Given the description of an element on the screen output the (x, y) to click on. 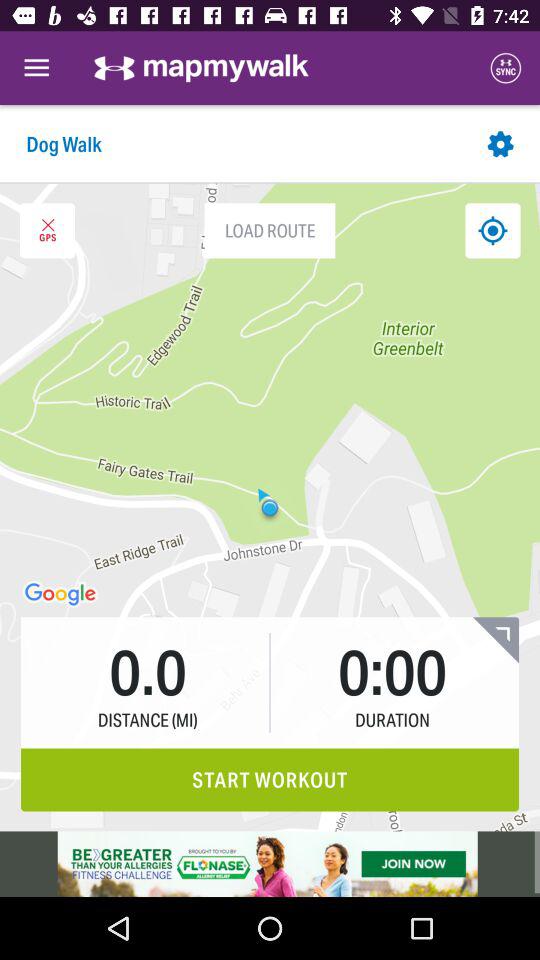
close gps (47, 230)
